Given the description of an element on the screen output the (x, y) to click on. 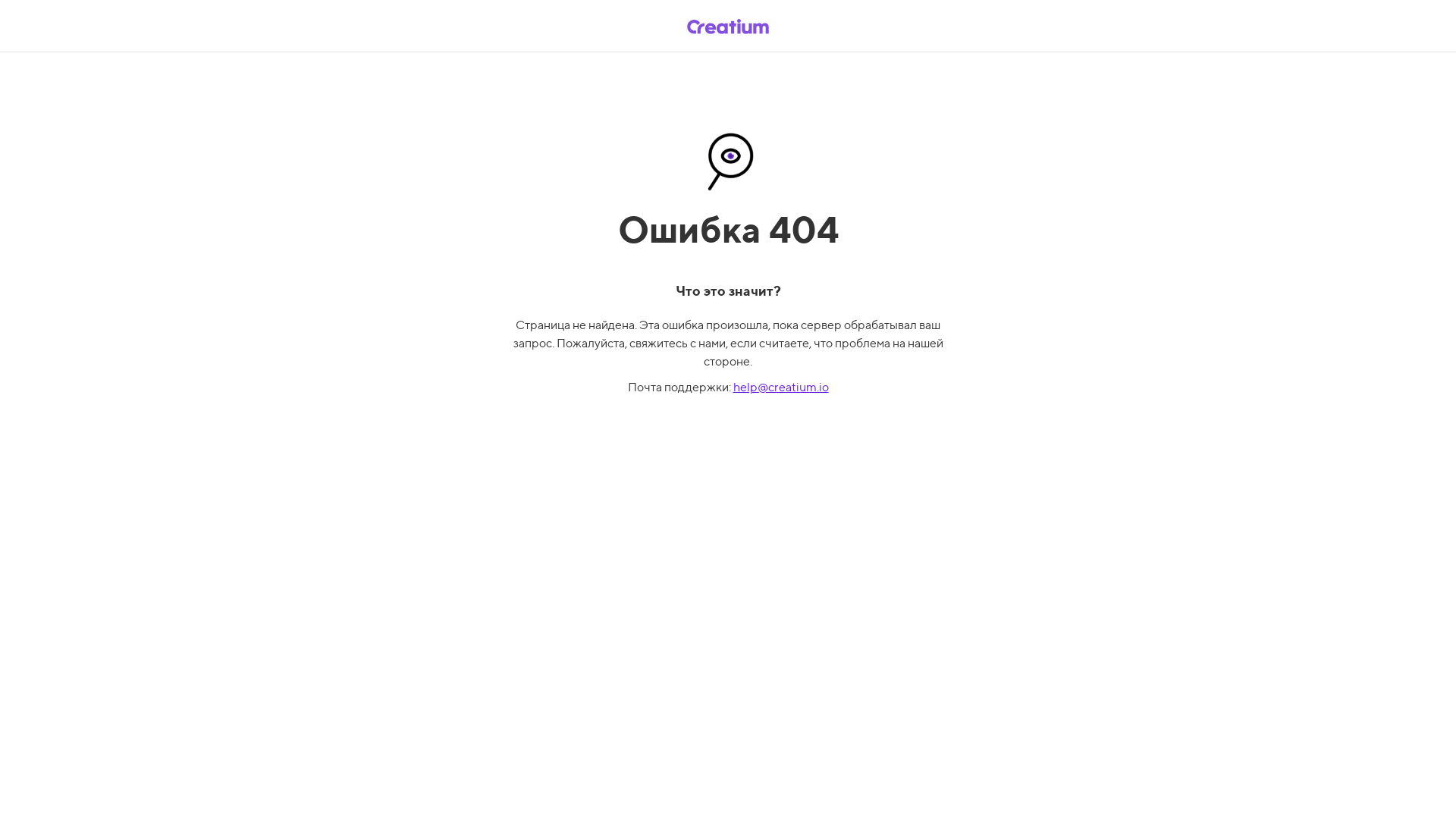
help@creatium.io Element type: text (780, 386)
